Given the description of an element on the screen output the (x, y) to click on. 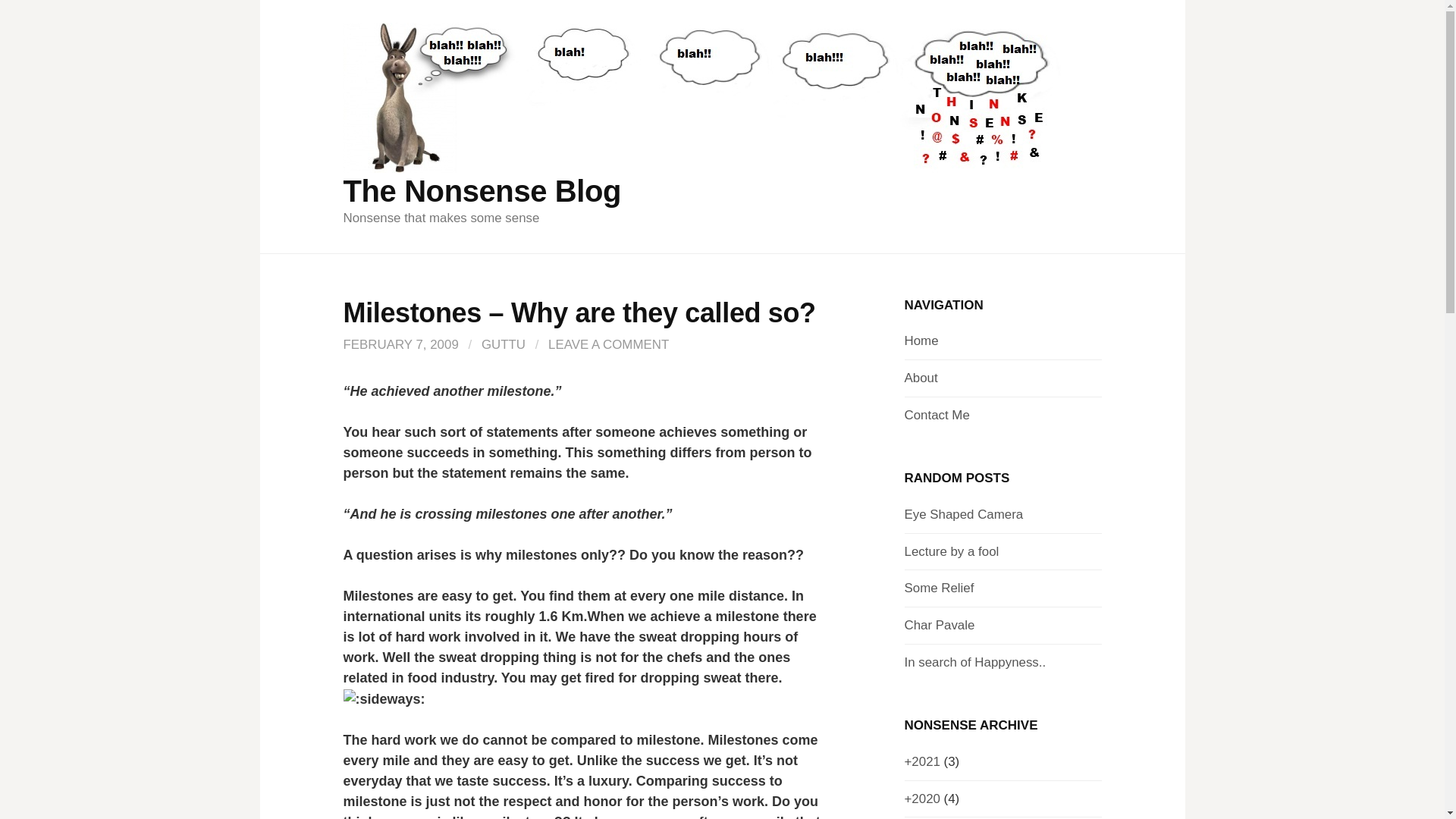
In search of Happyness.. (974, 662)
LEAVE A COMMENT (608, 344)
June 11, 2008 (939, 587)
Lecture by a fool (951, 551)
Char Pavale (939, 625)
About (920, 377)
GUTTU (503, 344)
Home (920, 340)
Contact Me (936, 414)
Eye Shaped Camera (963, 513)
The Nonsense Blog (481, 191)
August 9, 2008 (963, 513)
December 22, 2008 (951, 551)
FEBRUARY 7, 2009 (400, 344)
Some Relief (939, 587)
